Given the description of an element on the screen output the (x, y) to click on. 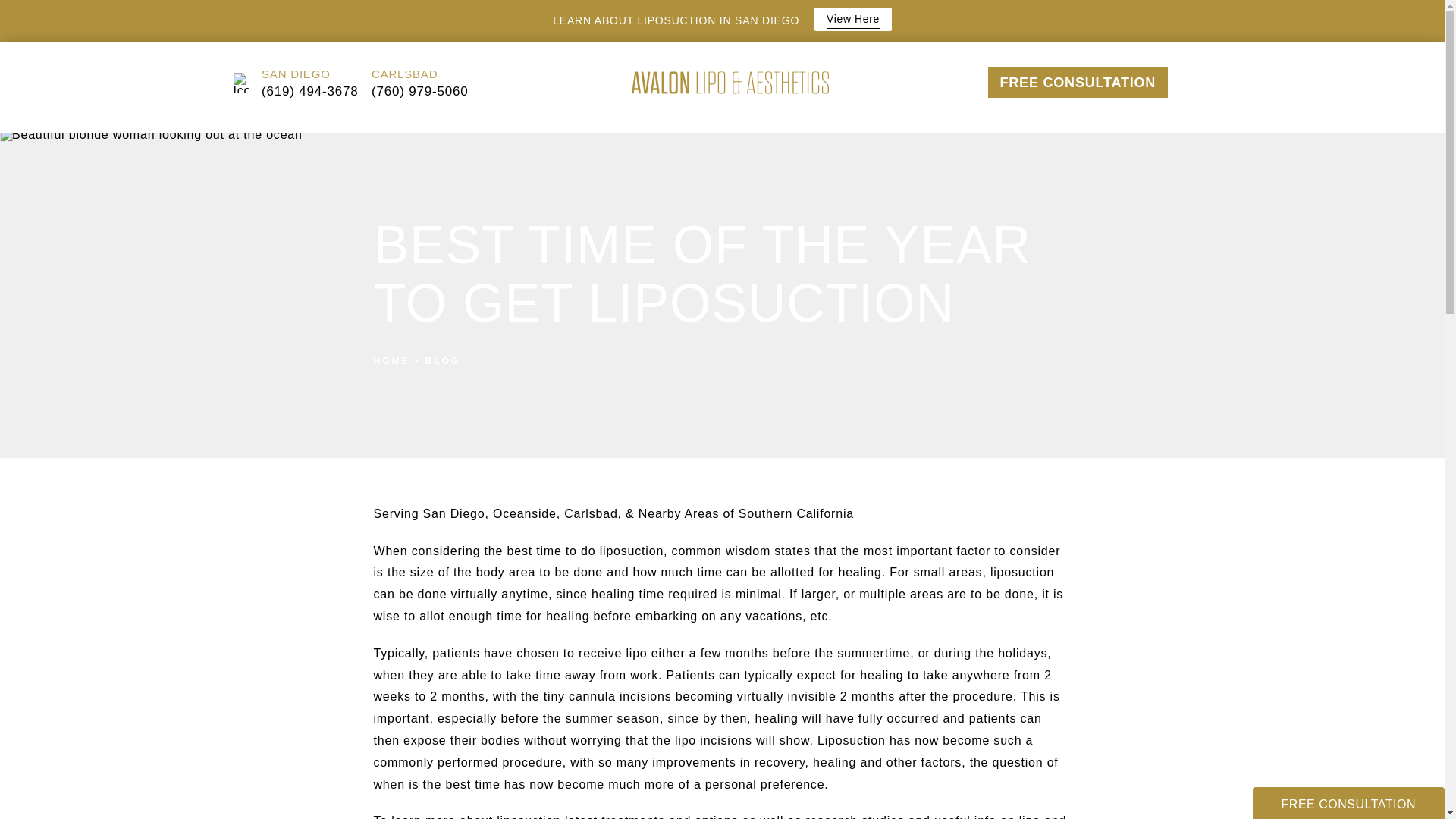
View Here (852, 19)
FREE CONSULTATION (1077, 82)
